Given the description of an element on the screen output the (x, y) to click on. 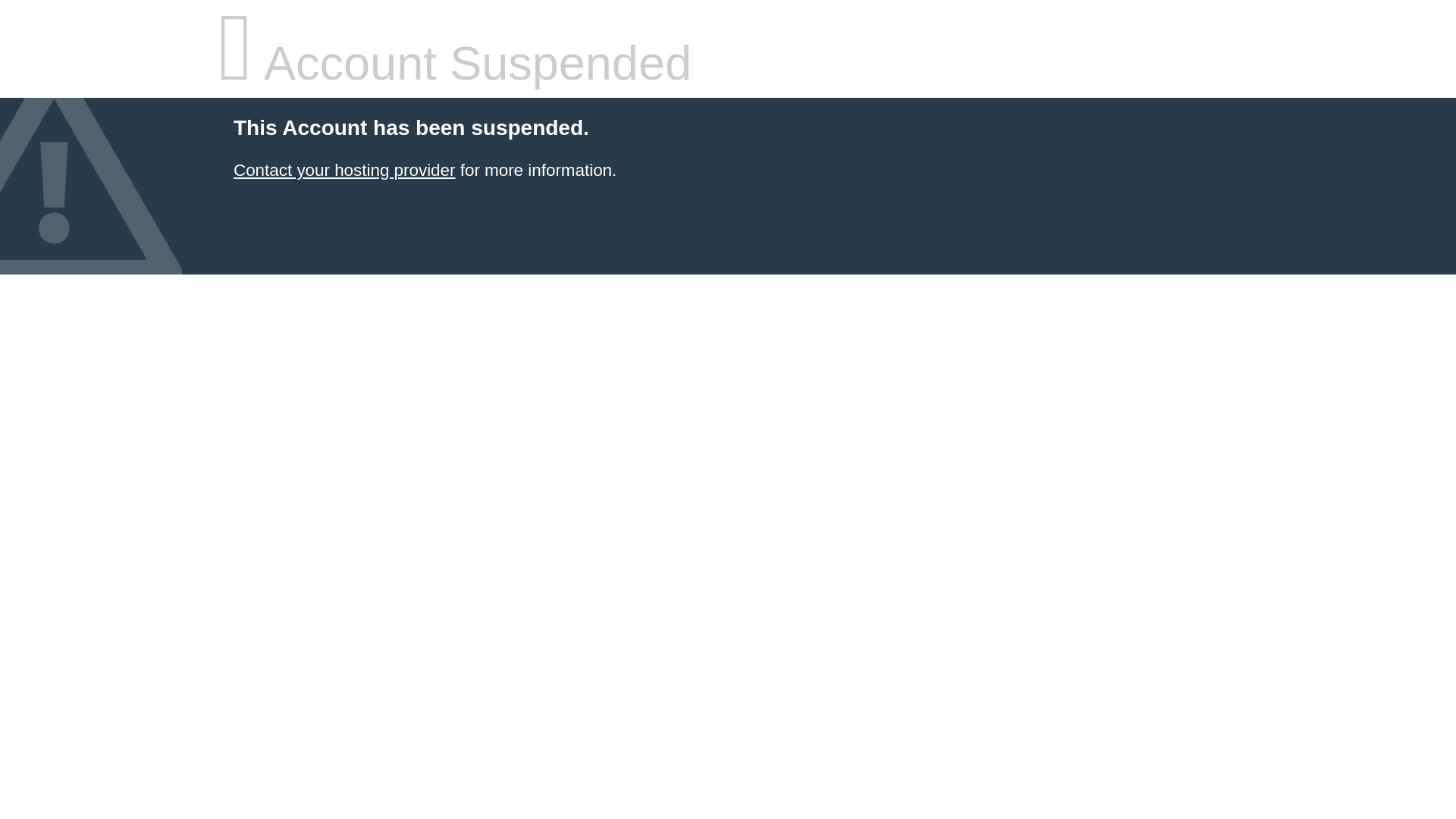
Contact your hosting provider (343, 169)
